Given the description of an element on the screen output the (x, y) to click on. 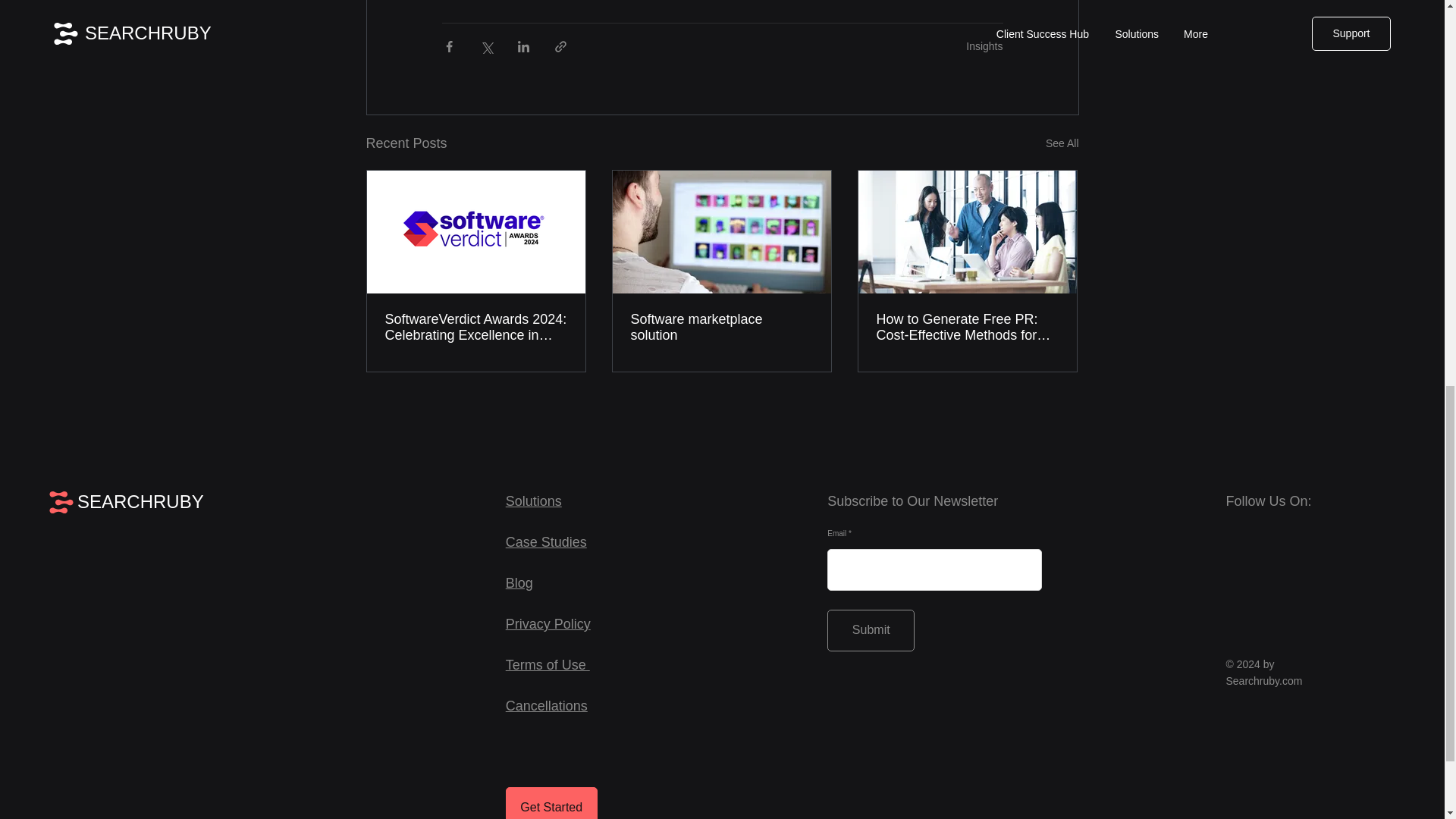
Submit (870, 630)
Case Studies (545, 541)
Cancellations (546, 705)
SEARCHRUBY (140, 501)
See All (1061, 143)
Solutions (533, 500)
Get Started (550, 803)
Privacy Policy (548, 623)
Terms of Use  (547, 664)
Software marketplace solution (721, 327)
Insights (984, 45)
Blog (518, 582)
